Given the description of an element on the screen output the (x, y) to click on. 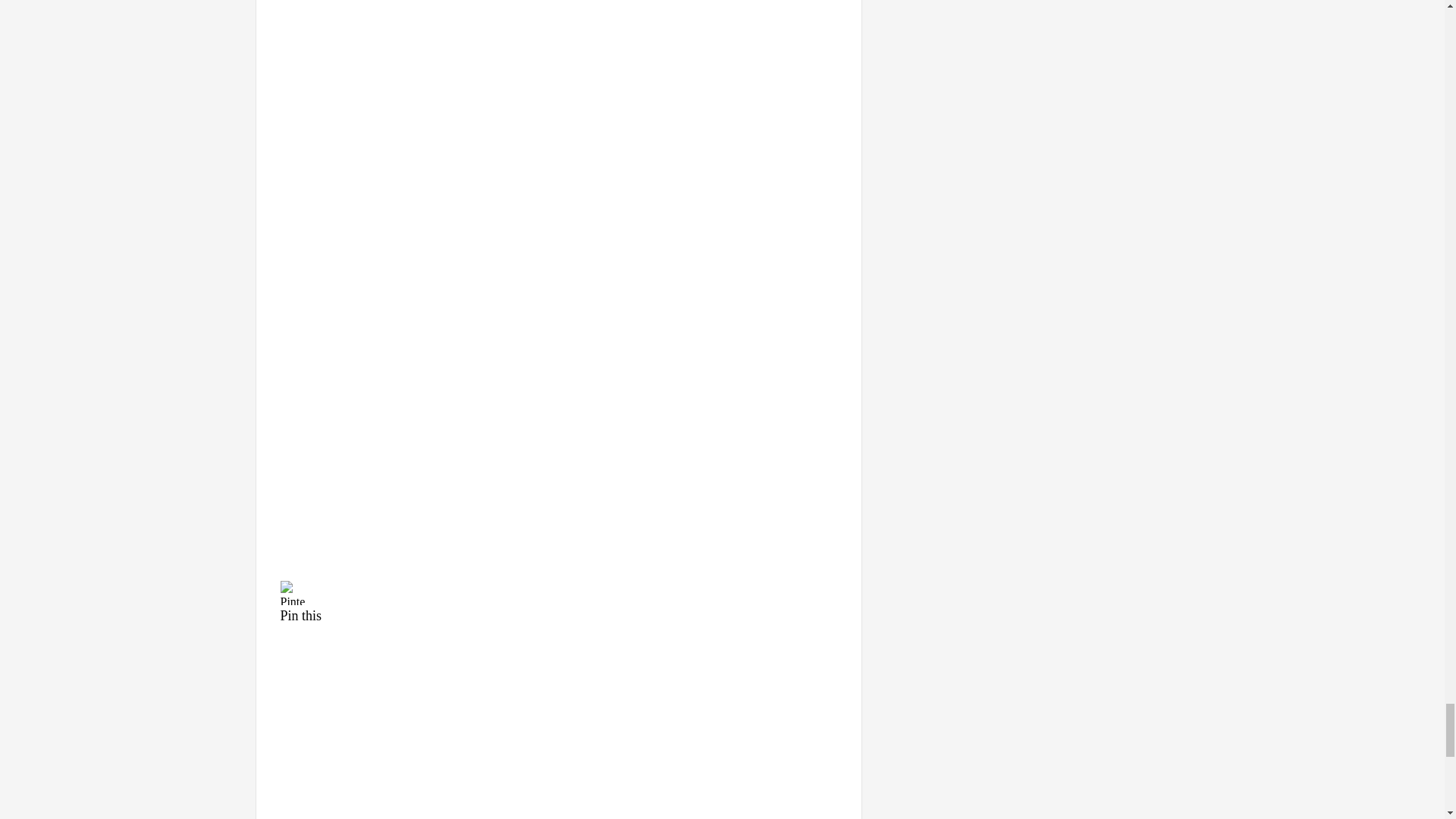
Pin this (559, 601)
